Given the description of an element on the screen output the (x, y) to click on. 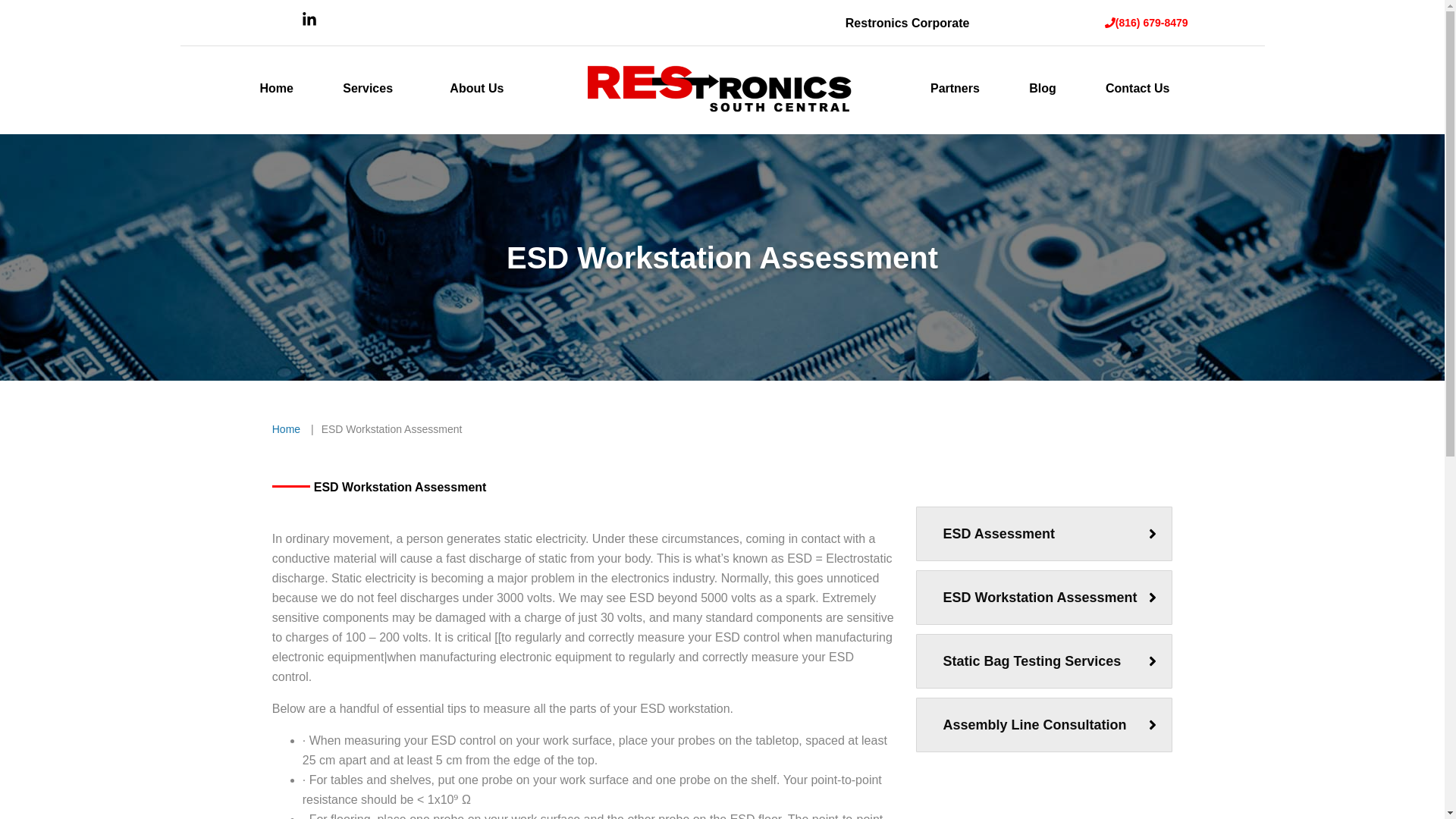
Static Bag Testing Services (1032, 661)
ESD Assessment (998, 533)
About Us (476, 90)
Home (285, 428)
Partners (954, 90)
Des Moines (340, 417)
Connect with us on LinkedIn (309, 22)
Services (367, 90)
Contact Us (1137, 90)
ESD Workstation Assessment (1040, 597)
